Given the description of an element on the screen output the (x, y) to click on. 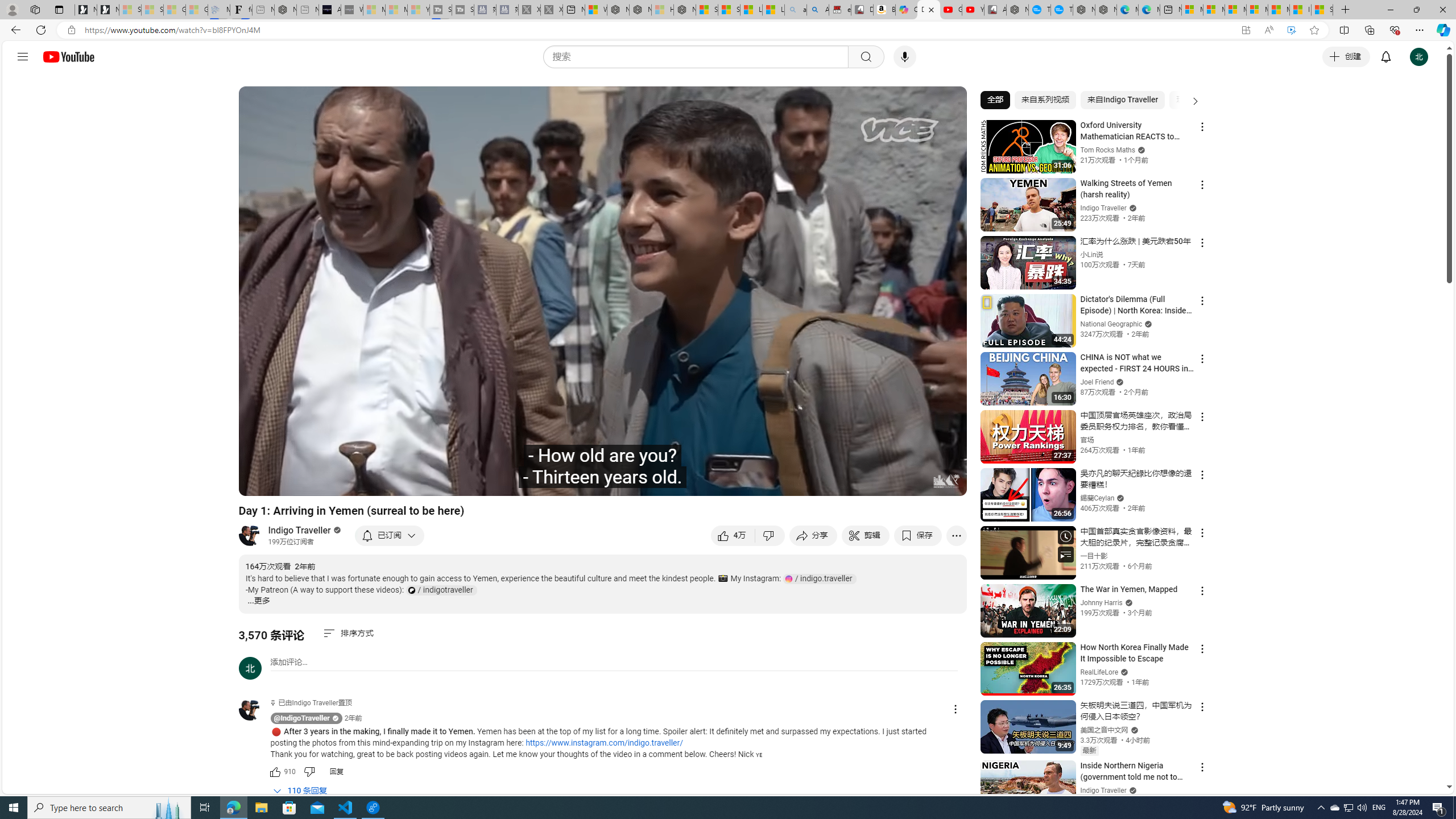
All Cubot phones (995, 9)
App available. Install YouTube (1245, 29)
